Given the description of an element on the screen output the (x, y) to click on. 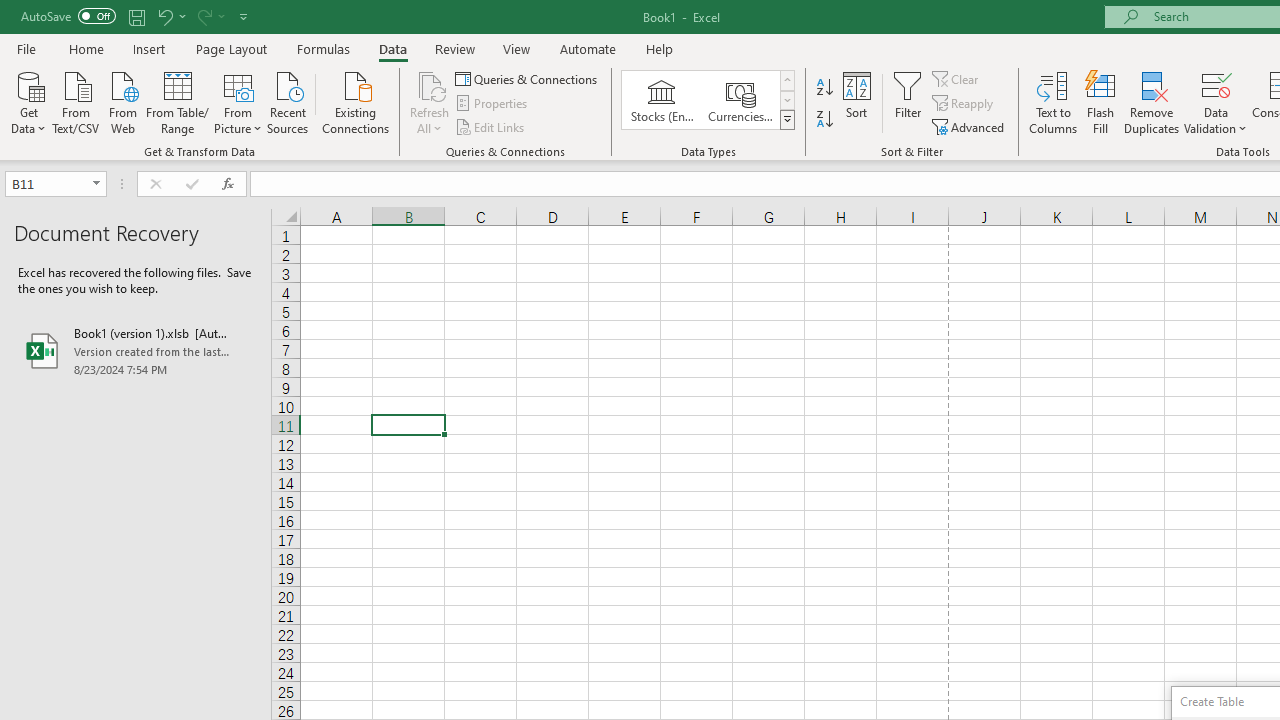
Filter (908, 102)
Sort Z to A (824, 119)
From Picture (238, 101)
Clear (957, 78)
Recent Sources (287, 101)
Text to Columns... (1053, 102)
From Text/CSV (75, 101)
Row up (786, 79)
Flash Fill (1101, 102)
Sort... (856, 102)
Stocks (English) (662, 100)
